Given the description of an element on the screen output the (x, y) to click on. 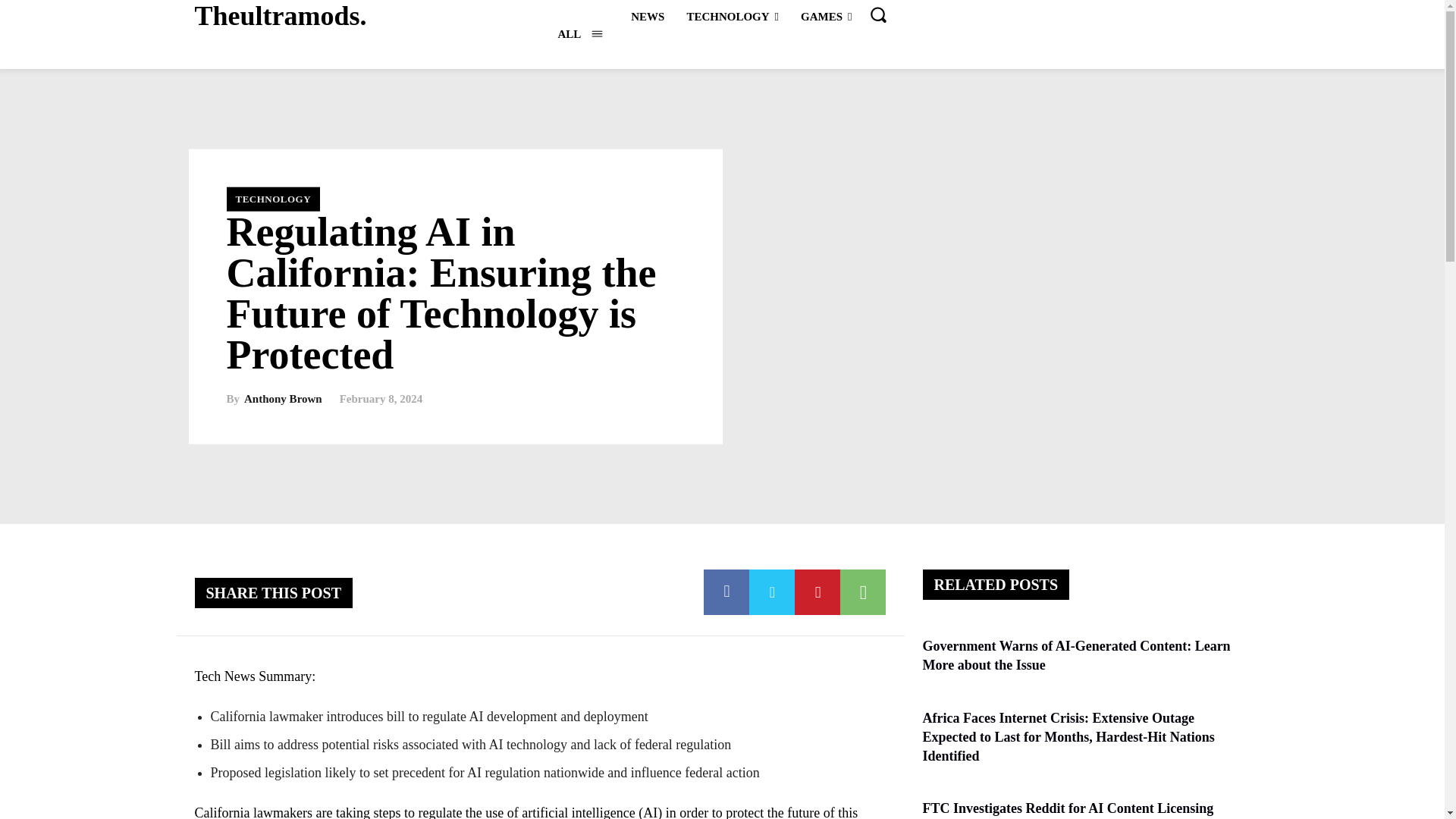
All (579, 33)
